Given the description of an element on the screen output the (x, y) to click on. 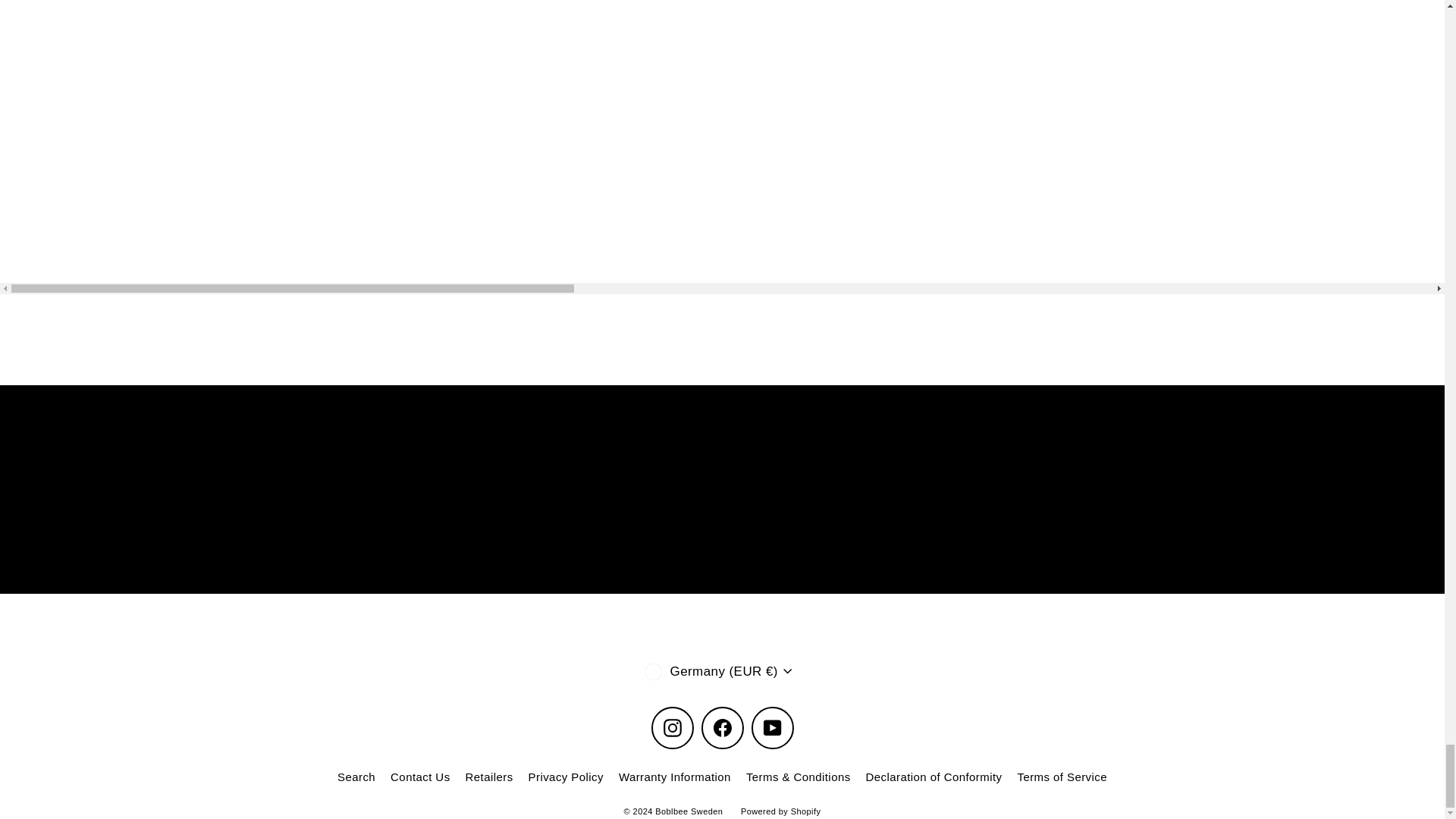
Boblbee Sweden on Instagram (671, 727)
instagram (671, 728)
Boblbee Sweden on Facebook (721, 727)
Boblbee Sweden on YouTube (772, 727)
